Given the description of an element on the screen output the (x, y) to click on. 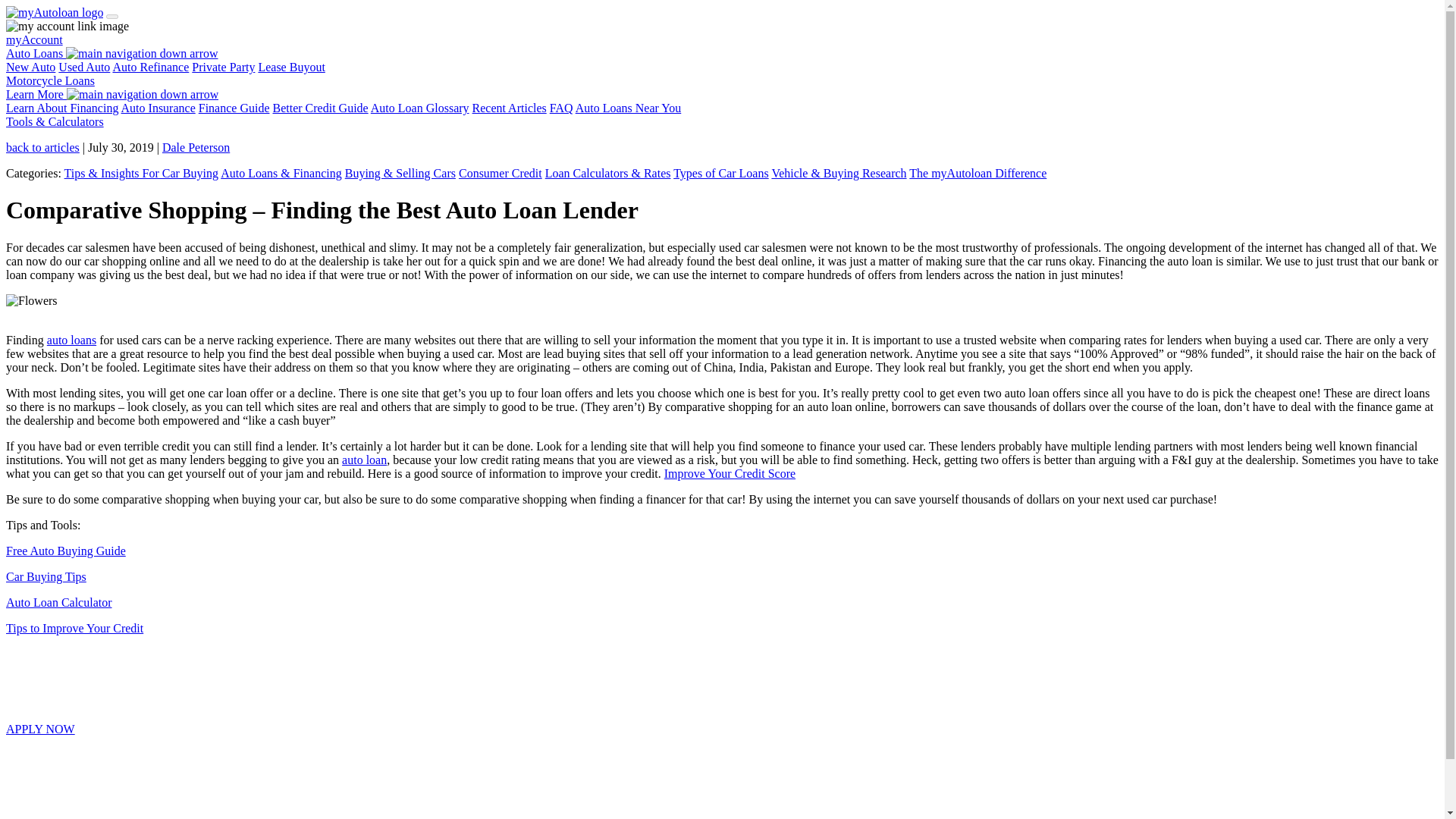
Auto Insurance (157, 107)
Go To Refinance Auto Loan Page (150, 66)
Recent Articles (509, 107)
Go To Better Credit Guide (320, 107)
The myAutoloan Difference (977, 173)
Go To Auto Loan Glossary (419, 107)
Free Auto Buying Guide (65, 550)
back to articles (42, 146)
Go To Auto Insurance Page (157, 107)
Auto Loan Calculator (58, 602)
